Given the description of an element on the screen output the (x, y) to click on. 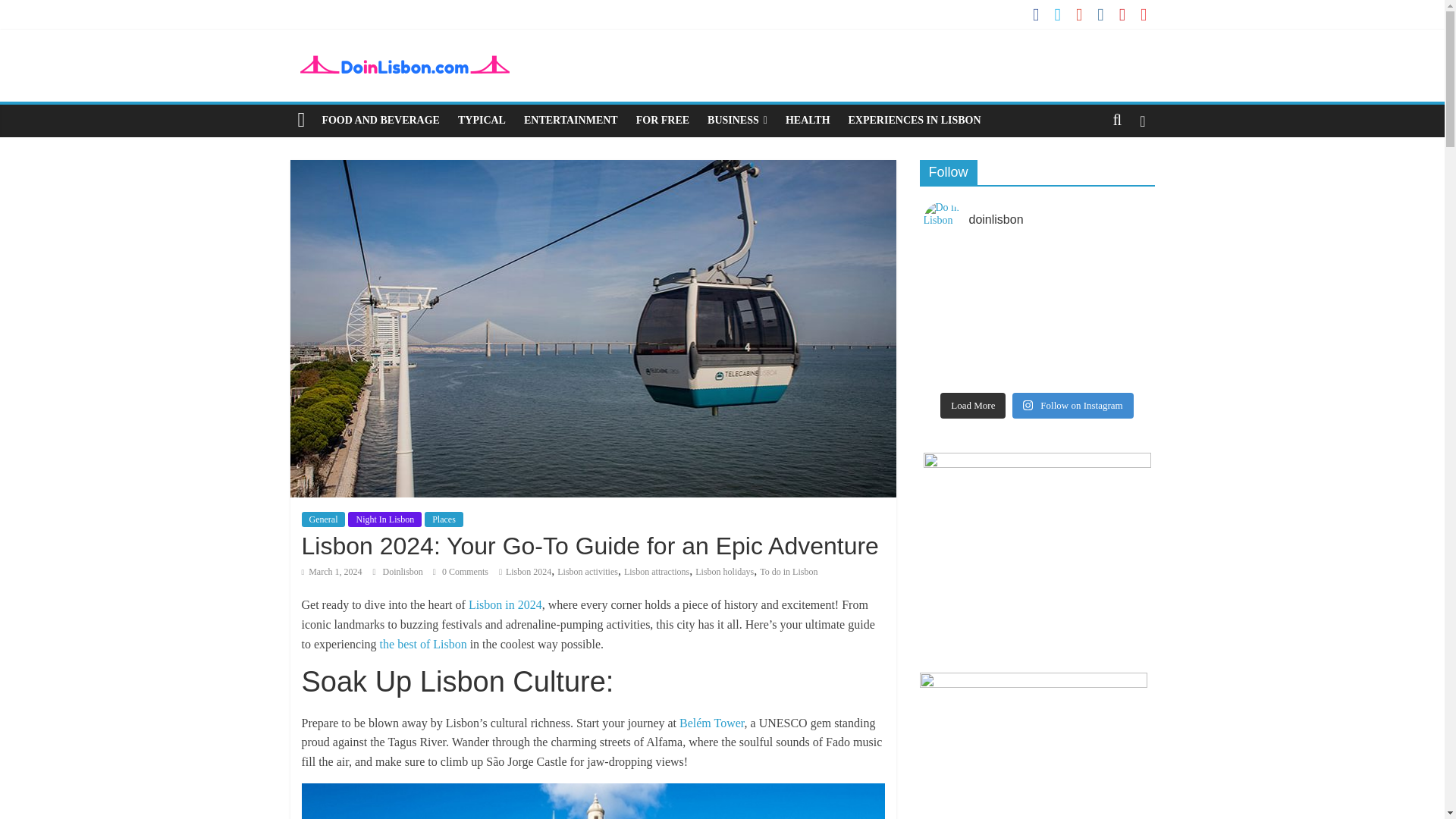
Lisbon attractions (656, 571)
EXPERIENCES IN LISBON (915, 120)
Lisbon holidays (724, 571)
Lisbon activities (587, 571)
FOR FREE (662, 120)
Doinlisbon (403, 571)
HEALTH (808, 120)
TYPICAL (481, 120)
FOOD AND BEVERAGE (380, 120)
General (323, 519)
Night In Lisbon (384, 519)
Places (444, 519)
Doinlisbon (403, 571)
the best of Lisbon (423, 644)
Lisbon in 2024 (503, 604)
